Given the description of an element on the screen output the (x, y) to click on. 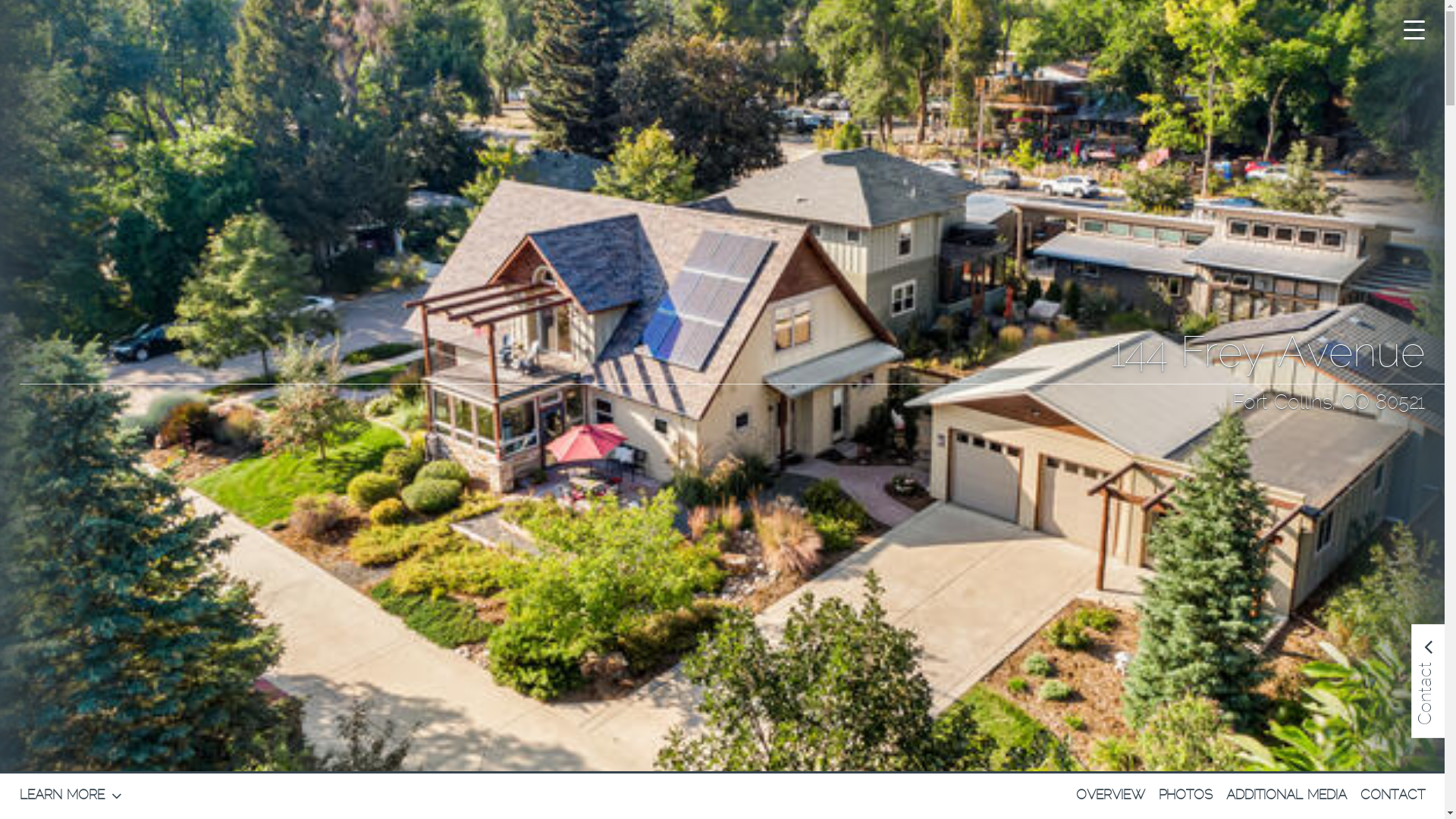
PHOTOS Element type: text (1185, 796)
CONTACT Element type: text (1392, 796)
ADDITIONAL MEDIA Element type: text (1286, 796)
OVERVIEW Element type: text (1110, 796)
